Given the description of an element on the screen output the (x, y) to click on. 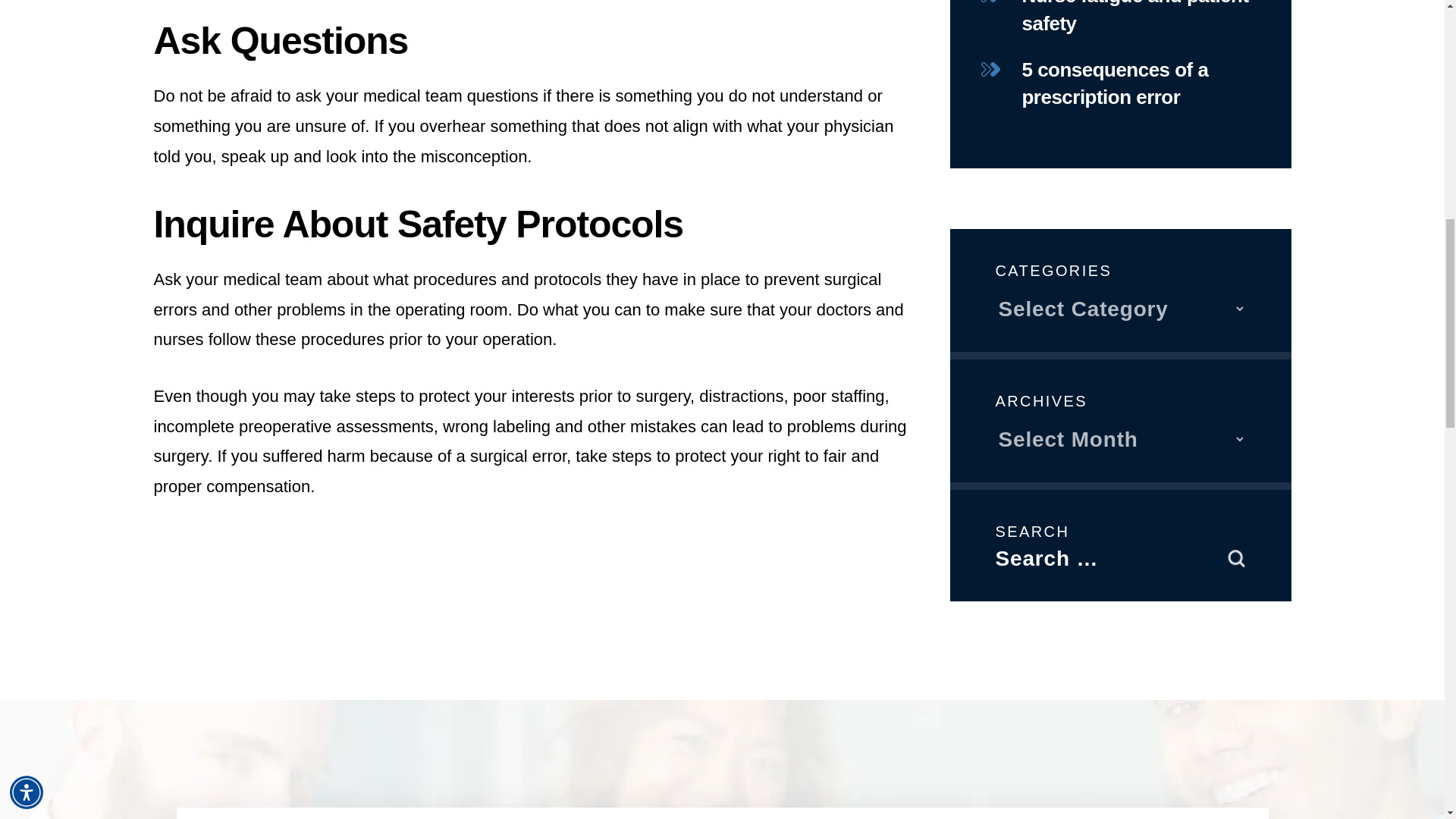
Search (1235, 558)
Search (1235, 558)
